Given the description of an element on the screen output the (x, y) to click on. 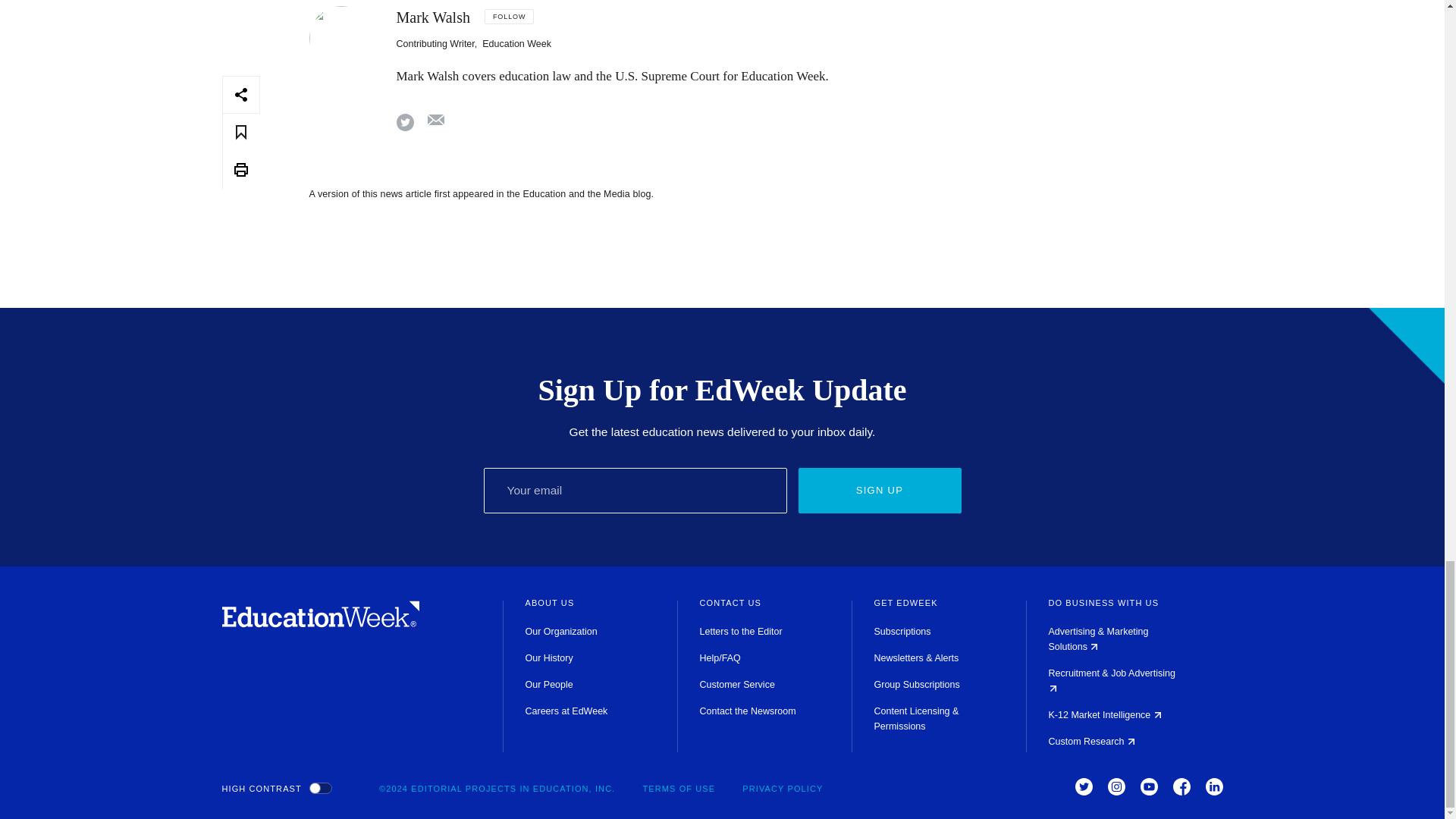
Homepage (320, 623)
